Given the description of an element on the screen output the (x, y) to click on. 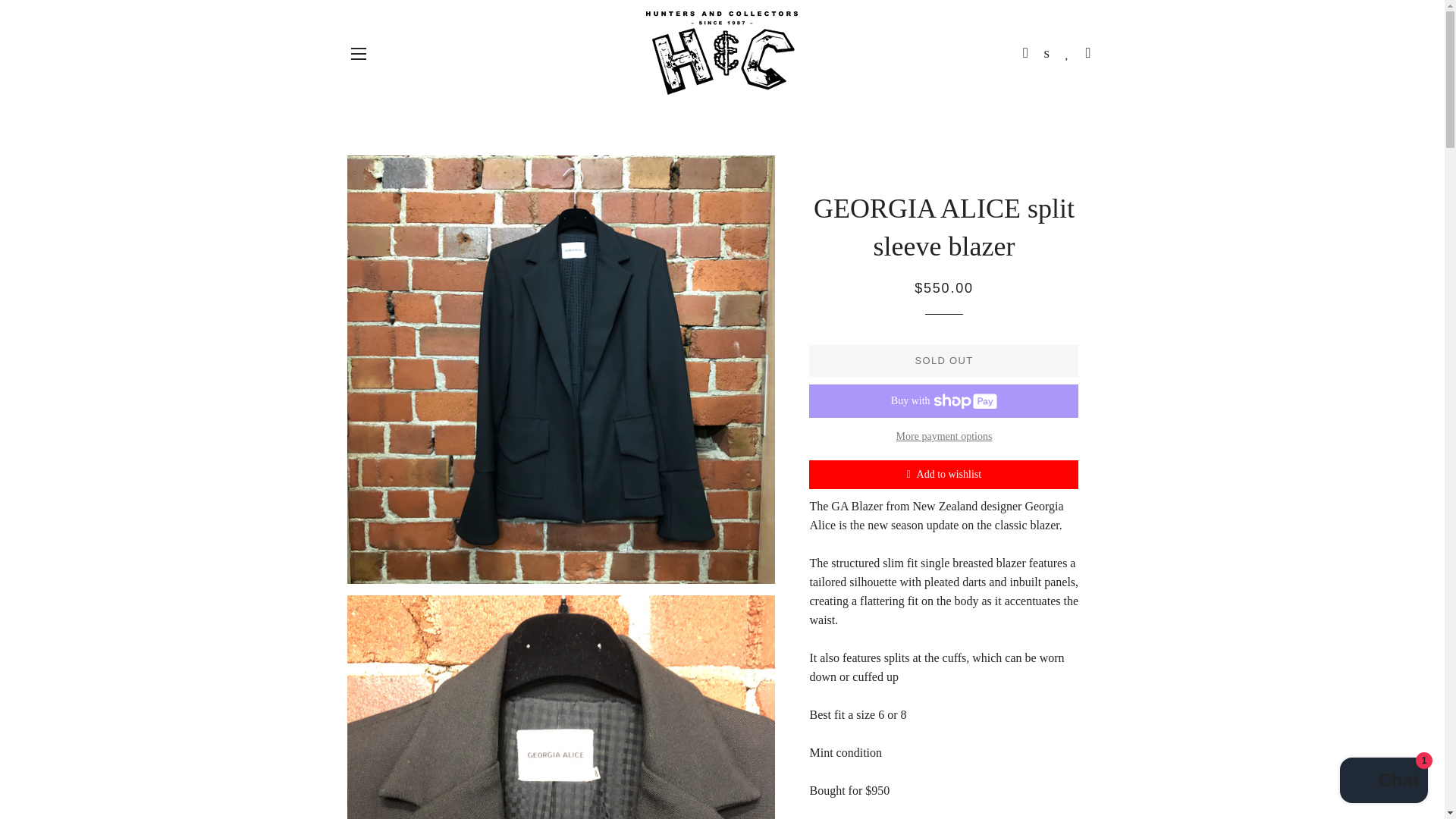
Share on Facebook (891, 816)
Shopify online store chat (1383, 781)
Tweet on Twitter (944, 816)
SITE NAVIGATION (358, 53)
Pin on Pinterest (997, 816)
